Given the description of an element on the screen output the (x, y) to click on. 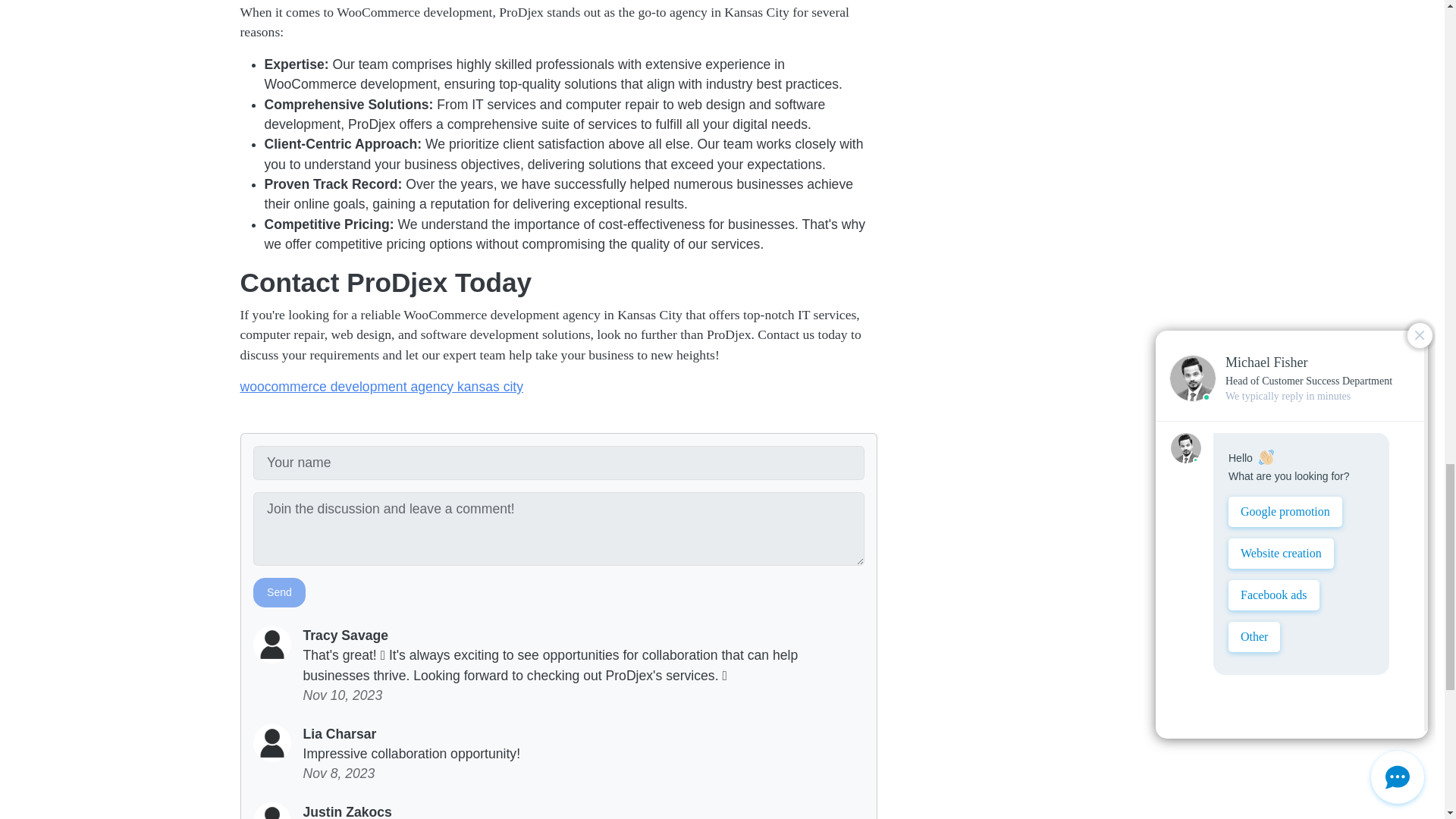
Send (279, 592)
Send (279, 592)
woocommerce development agency kansas city (381, 386)
